Given the description of an element on the screen output the (x, y) to click on. 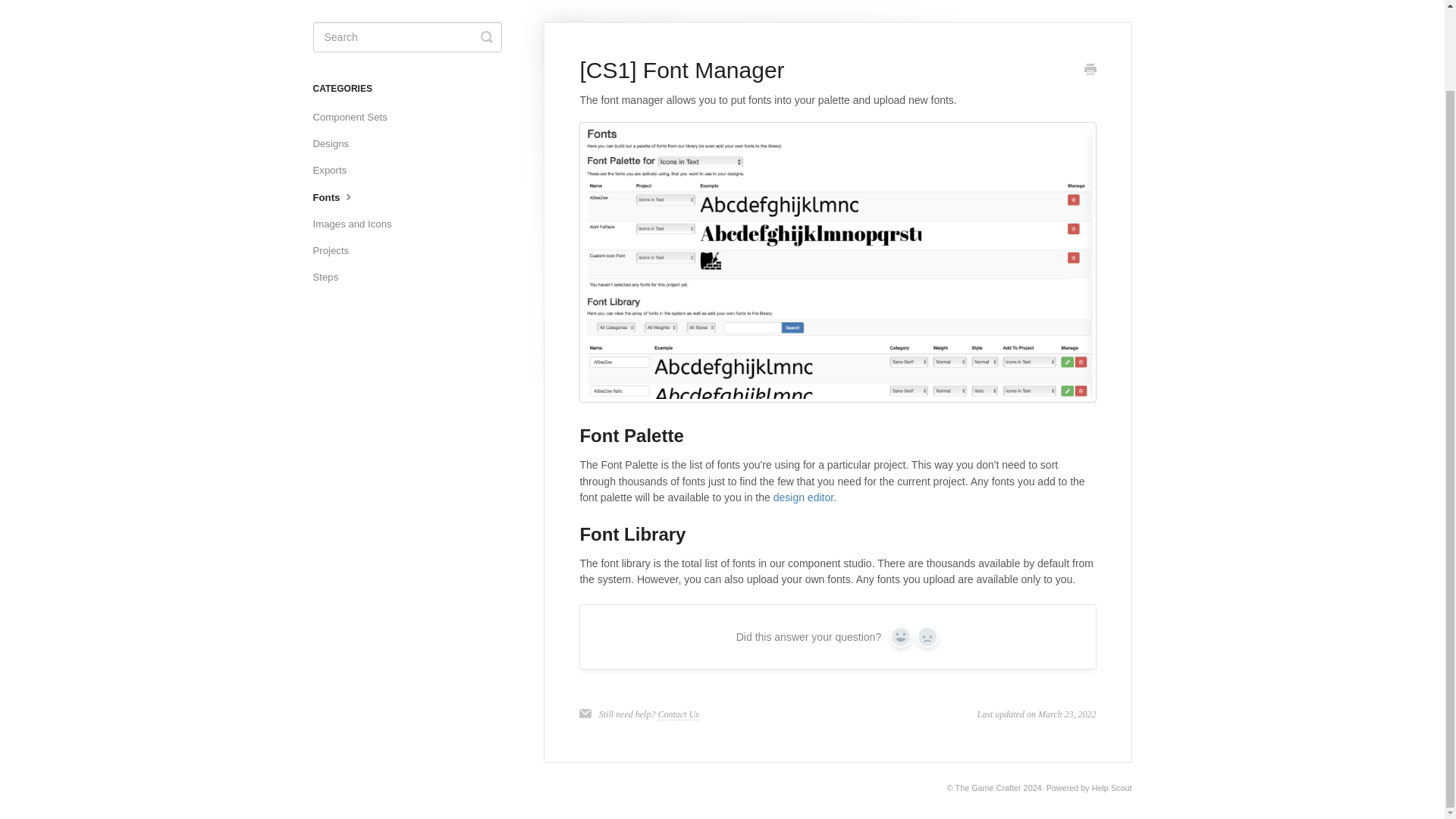
Images and Icons (358, 224)
Fonts (340, 197)
Contact Us (678, 714)
Yes (900, 636)
search-query (406, 37)
Exports (335, 170)
No (927, 636)
design editor (802, 497)
The Game Crafter (988, 787)
Help Scout (1112, 787)
